Given the description of an element on the screen output the (x, y) to click on. 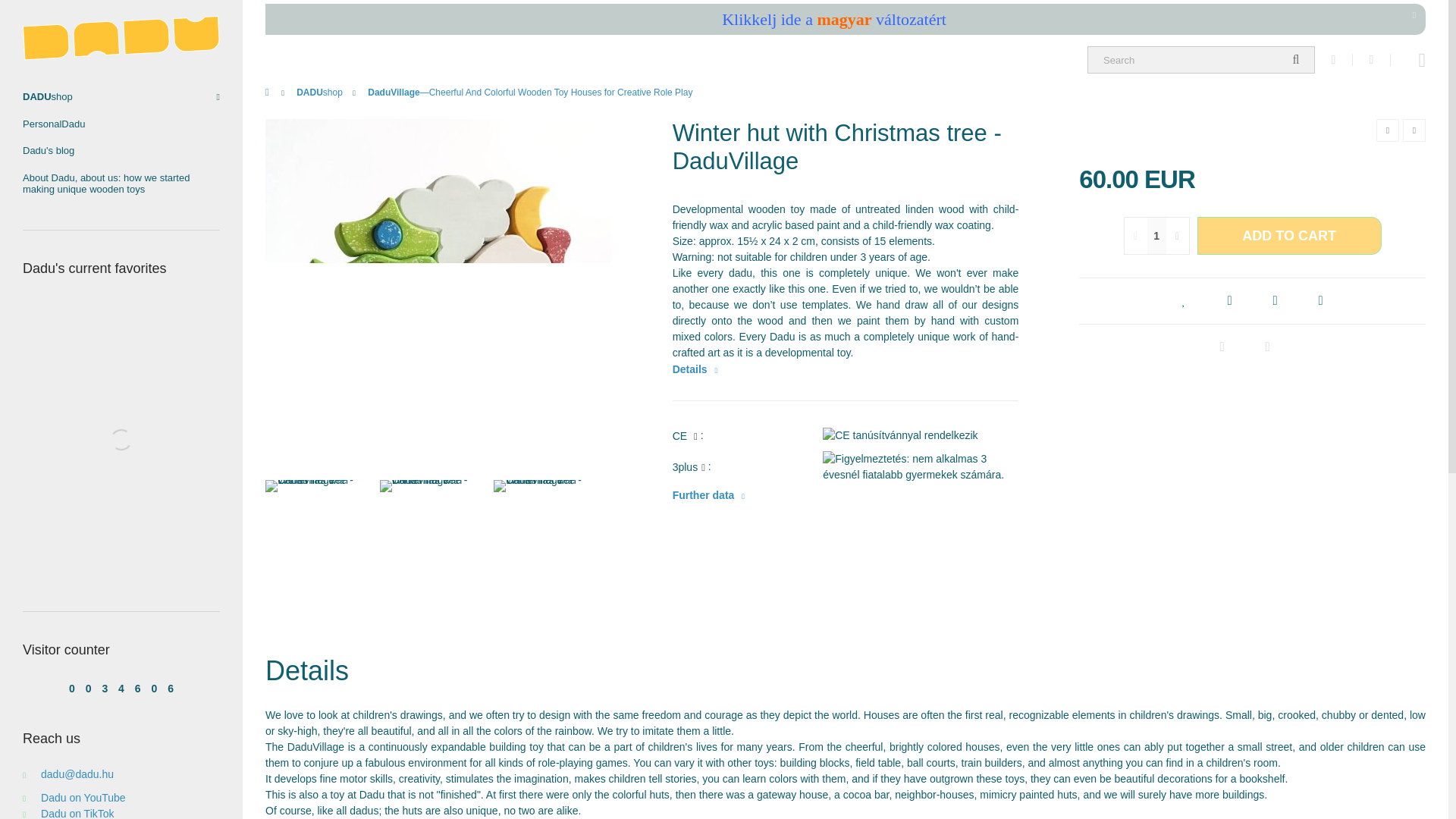
Dadu on TikTok (69, 813)
Winter hut with Christmas tree - DaduVillage (542, 528)
Winter hut with Christmas tree - DaduVillage (429, 528)
Further data (708, 495)
Close (1414, 15)
Details (694, 369)
Enter a longer search term! (1200, 59)
DADUshop (321, 91)
PersonalDadu (121, 124)
